Given the description of an element on the screen output the (x, y) to click on. 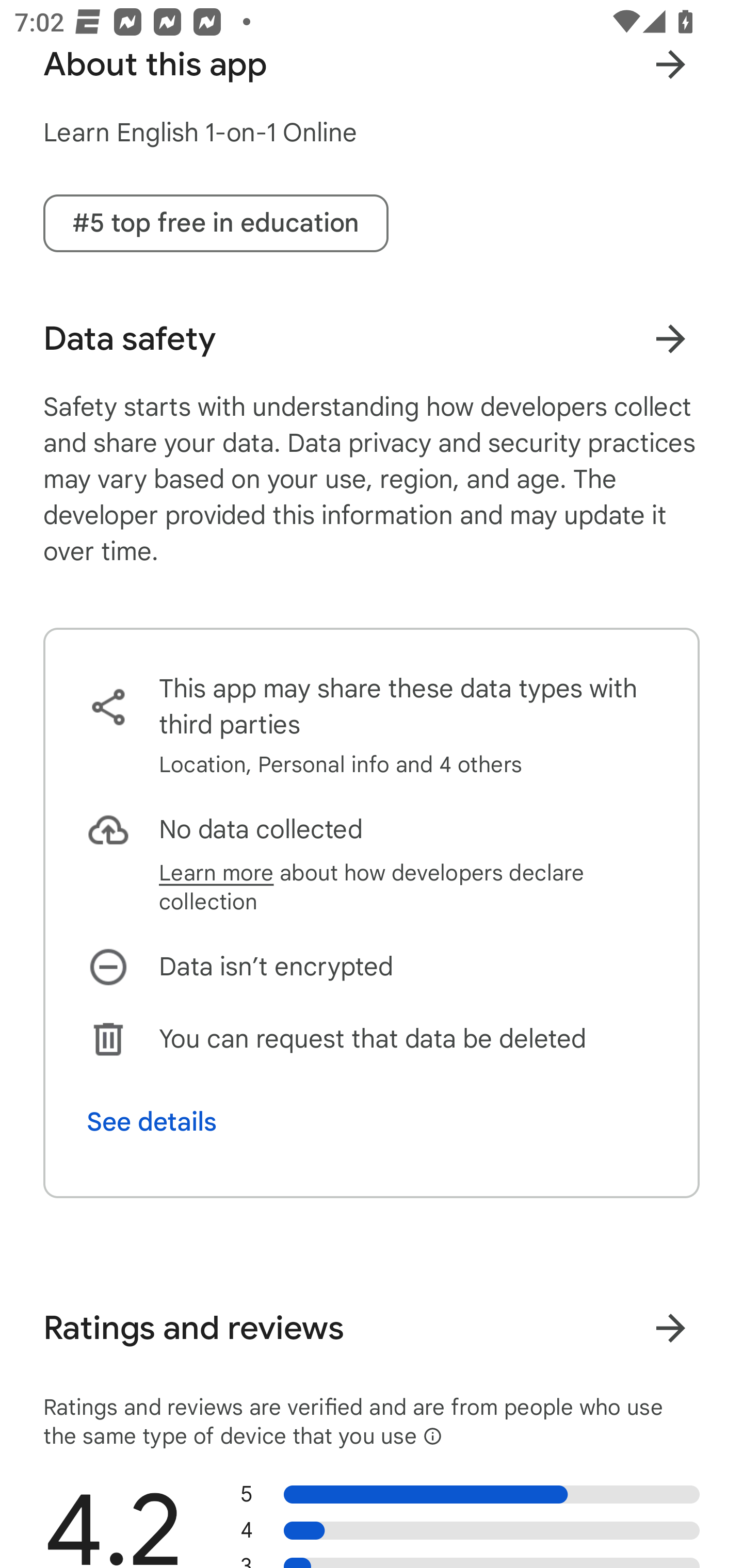
About this app Learn more About this app (371, 64)
Learn more About this app (670, 64)
#5 top free in education tag (215, 223)
Data safety Learn more about data safety (371, 338)
Learn more about data safety (670, 338)
Learn more about how developers declare collection (407, 887)
See details (151, 1121)
Ratings and reviews View all ratings and reviews (371, 1327)
View all ratings and reviews (670, 1328)
